Given the description of an element on the screen output the (x, y) to click on. 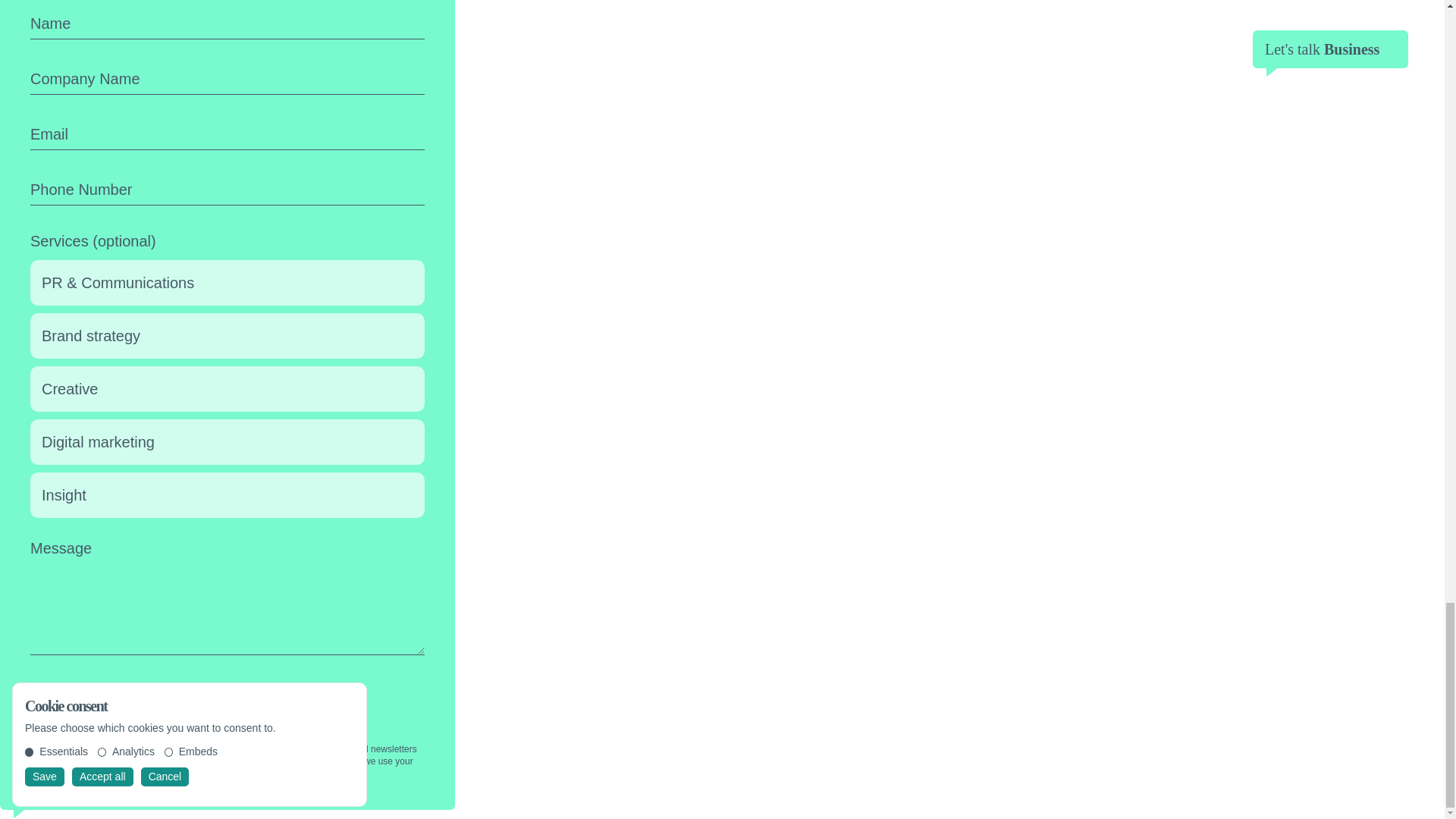
Submit (227, 720)
